Given the description of an element on the screen output the (x, y) to click on. 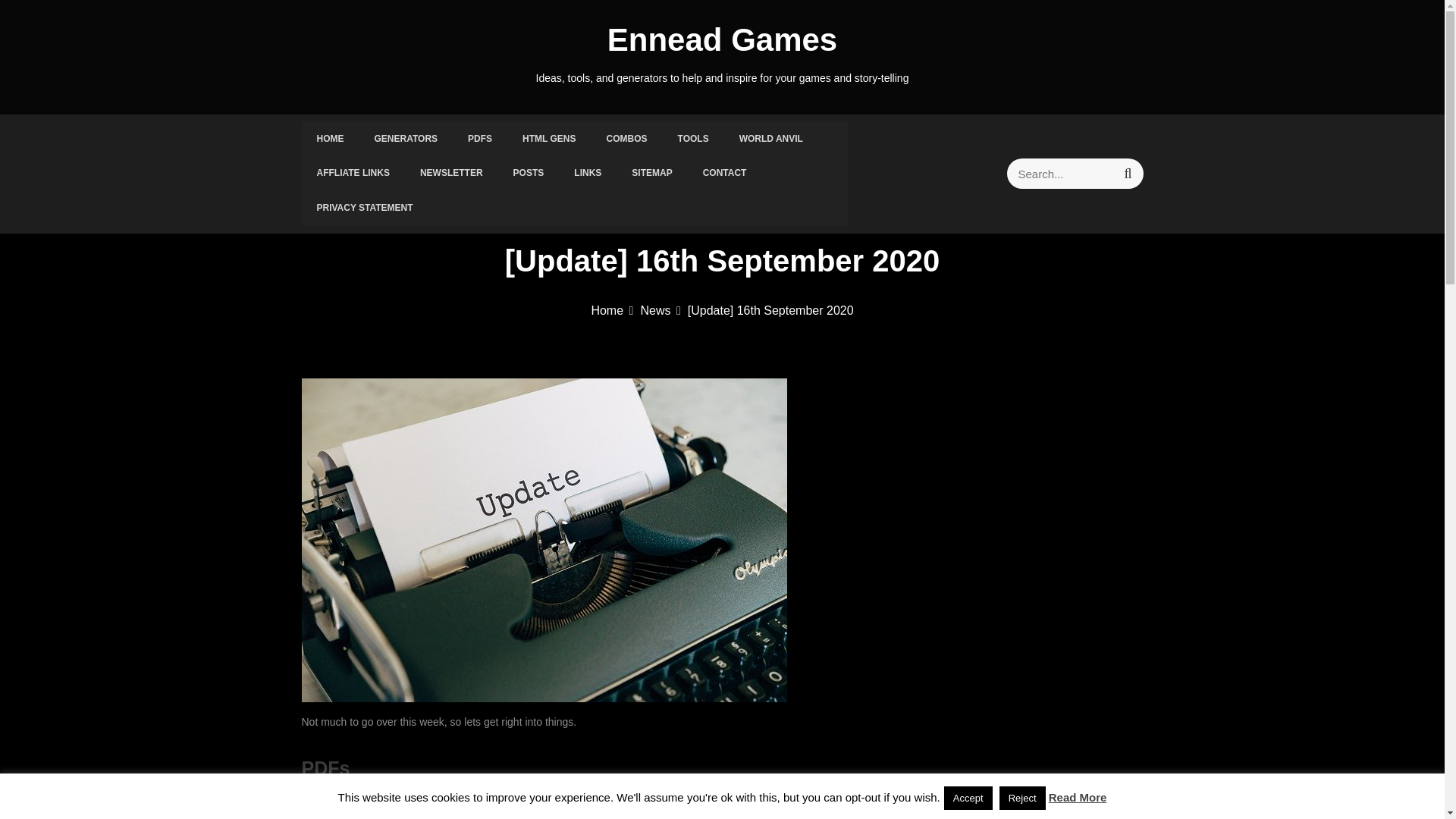
LINKS (587, 173)
TOOLS (692, 139)
POSTS (528, 173)
Ennead Games (722, 39)
PDFS (479, 139)
HTML GENS (548, 139)
Home (612, 309)
COMBOS (626, 139)
GENERATORS (405, 139)
HOME (330, 139)
PRIVACY STATEMENT (364, 208)
News (659, 309)
Search (1127, 173)
NEWSLETTER (450, 173)
